Given the description of an element on the screen output the (x, y) to click on. 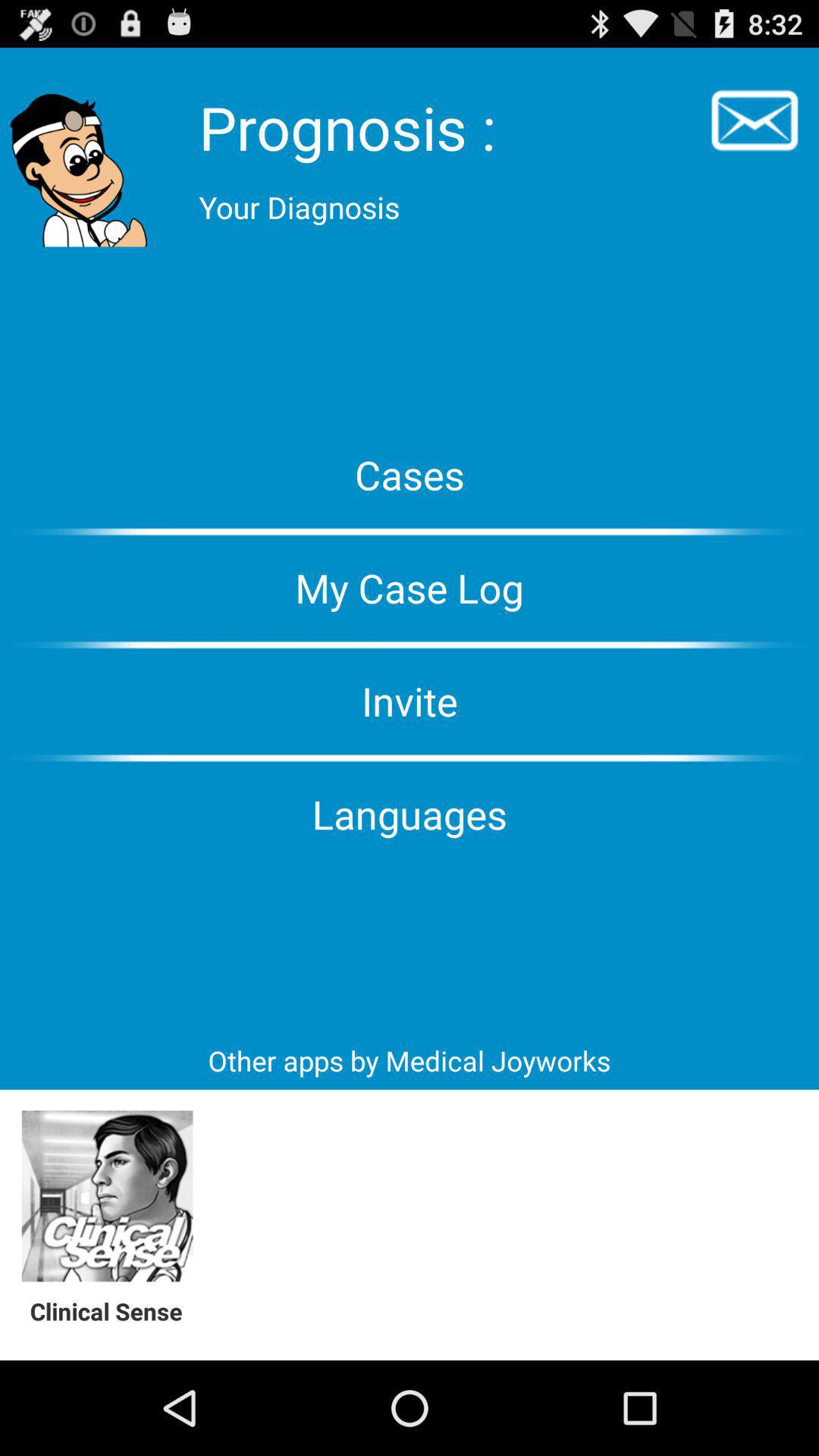
scroll to the cases item (409, 474)
